Given the description of an element on the screen output the (x, y) to click on. 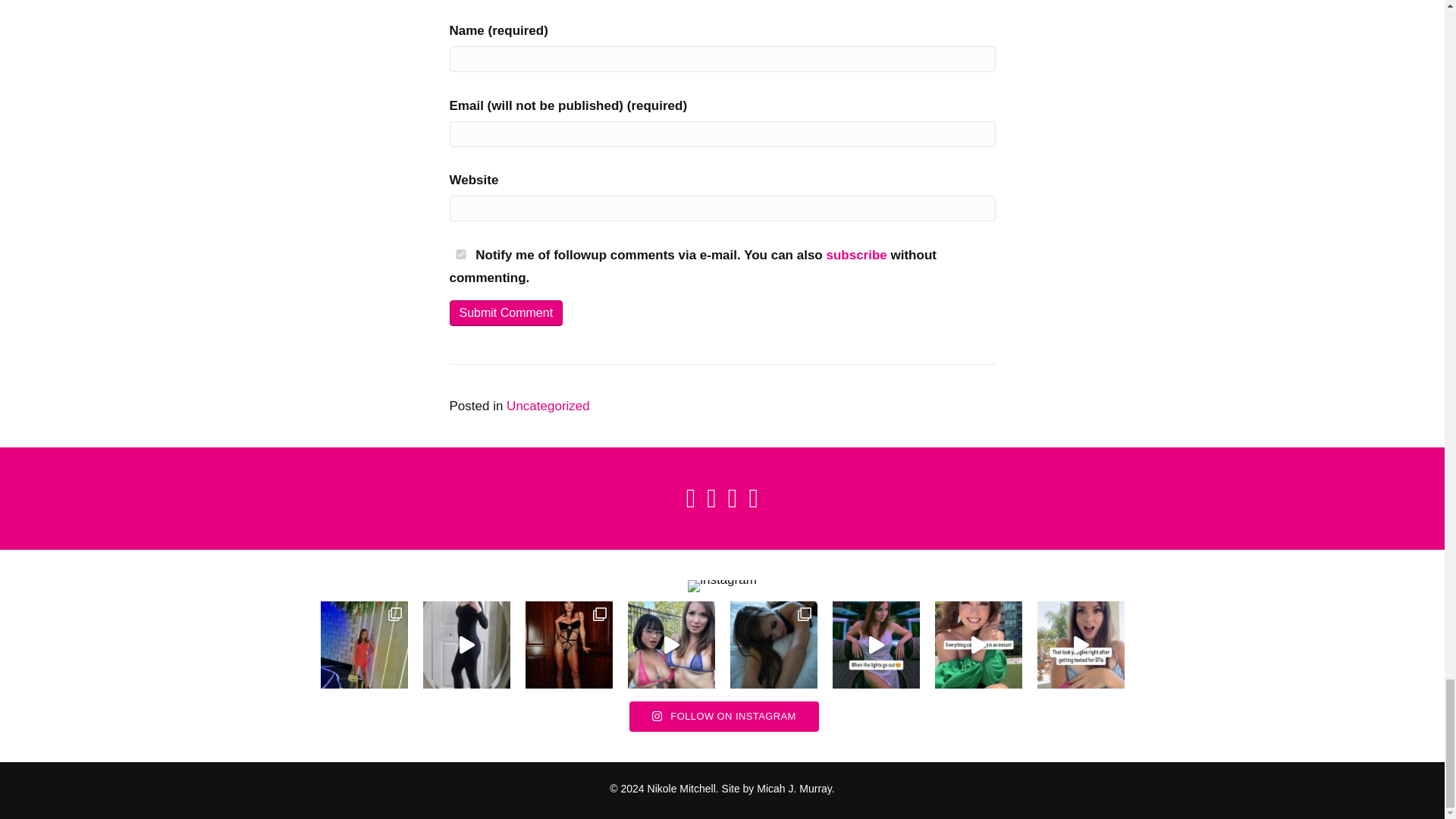
yes (459, 254)
Submit Comment (505, 312)
instagram (722, 585)
